Given the description of an element on the screen output the (x, y) to click on. 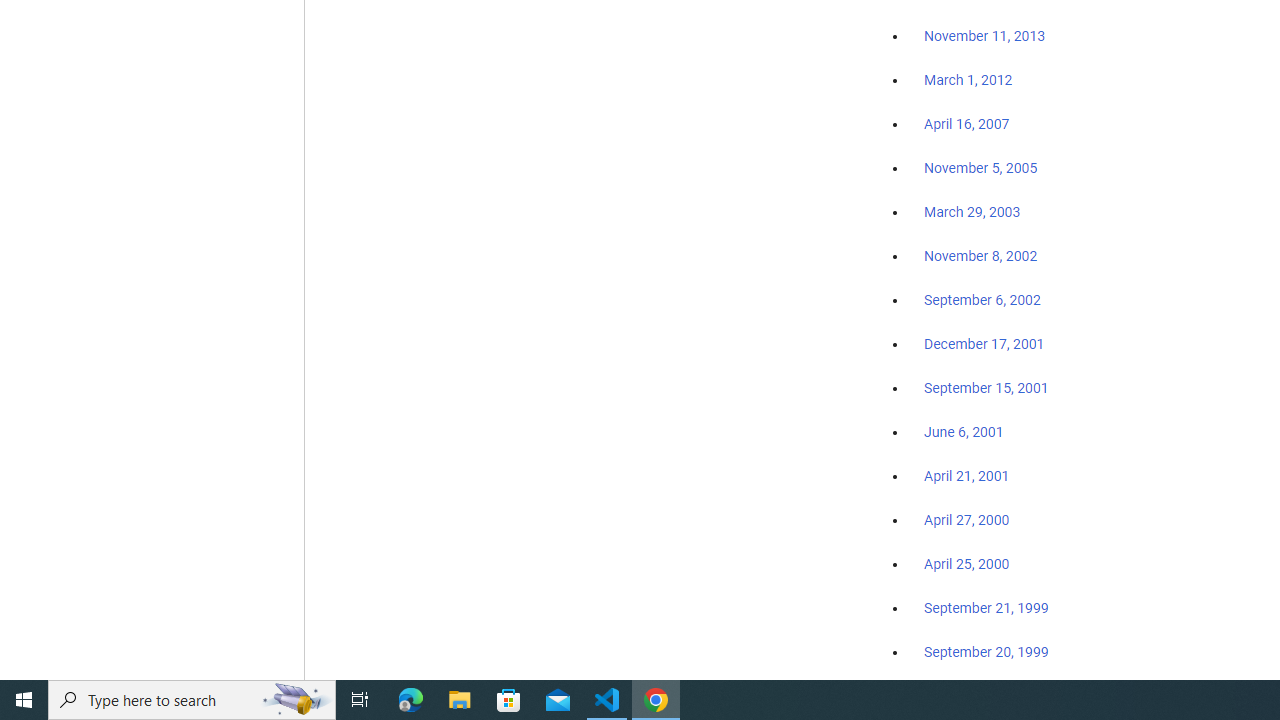
April 25, 2000 (966, 564)
November 5, 2005 (981, 168)
April 21, 2001 (966, 476)
September 15, 2001 (986, 387)
June 6, 2001 (963, 431)
March 29, 2003 (972, 212)
March 1, 2012 (968, 81)
December 17, 2001 (984, 343)
April 16, 2007 (966, 124)
November 11, 2013 (984, 37)
September 20, 1999 (986, 651)
April 27, 2000 (966, 520)
September 6, 2002 (982, 299)
September 21, 1999 (986, 608)
November 8, 2002 (981, 255)
